Given the description of an element on the screen output the (x, y) to click on. 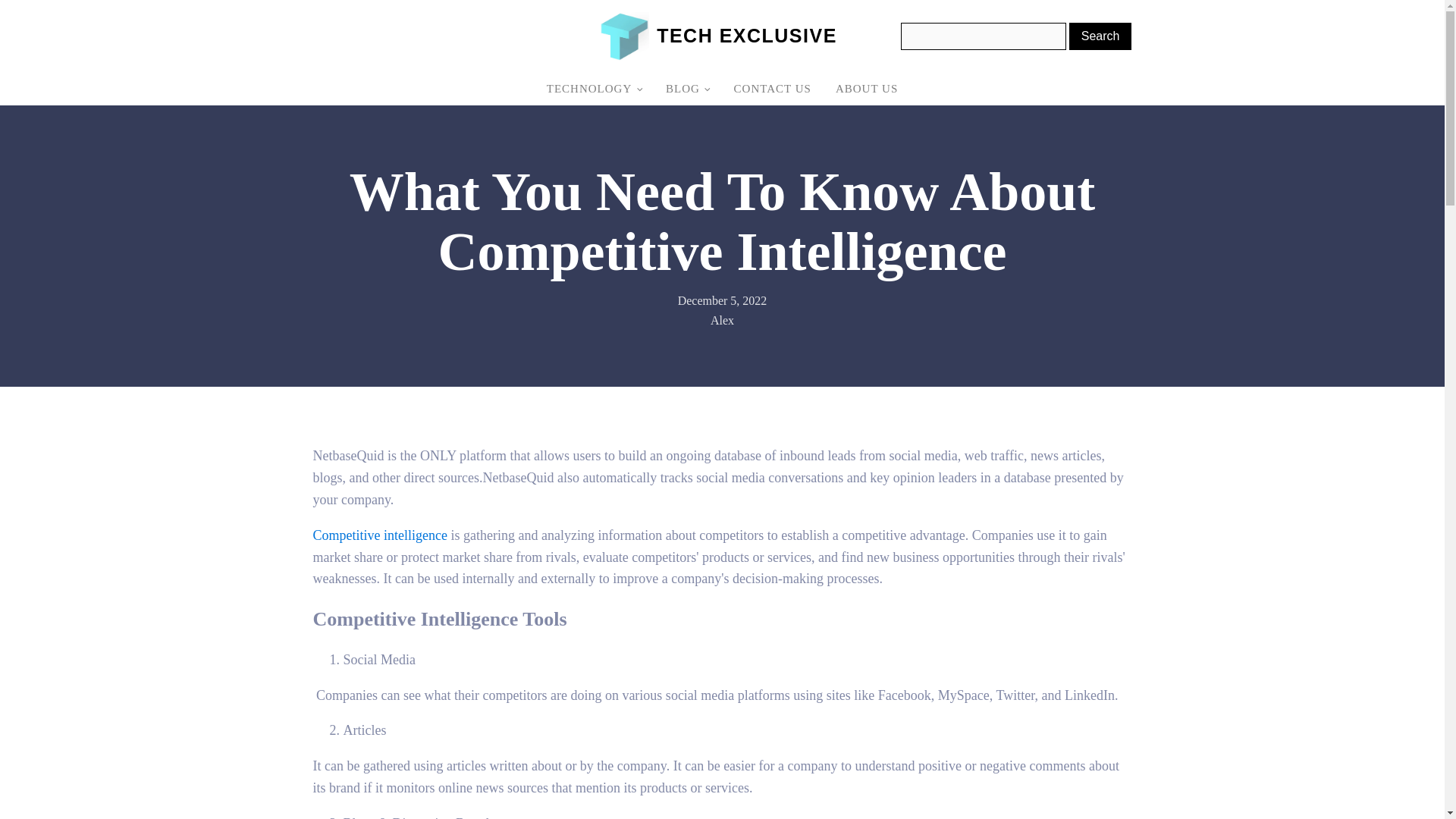
Search (1100, 35)
TECH EXCLUSIVE (746, 35)
BLOG (687, 88)
CONTACT US (773, 88)
Search (1100, 35)
Competitive intelligence (379, 534)
TECHNOLOGY (593, 88)
ABOUT US (867, 88)
